Given the description of an element on the screen output the (x, y) to click on. 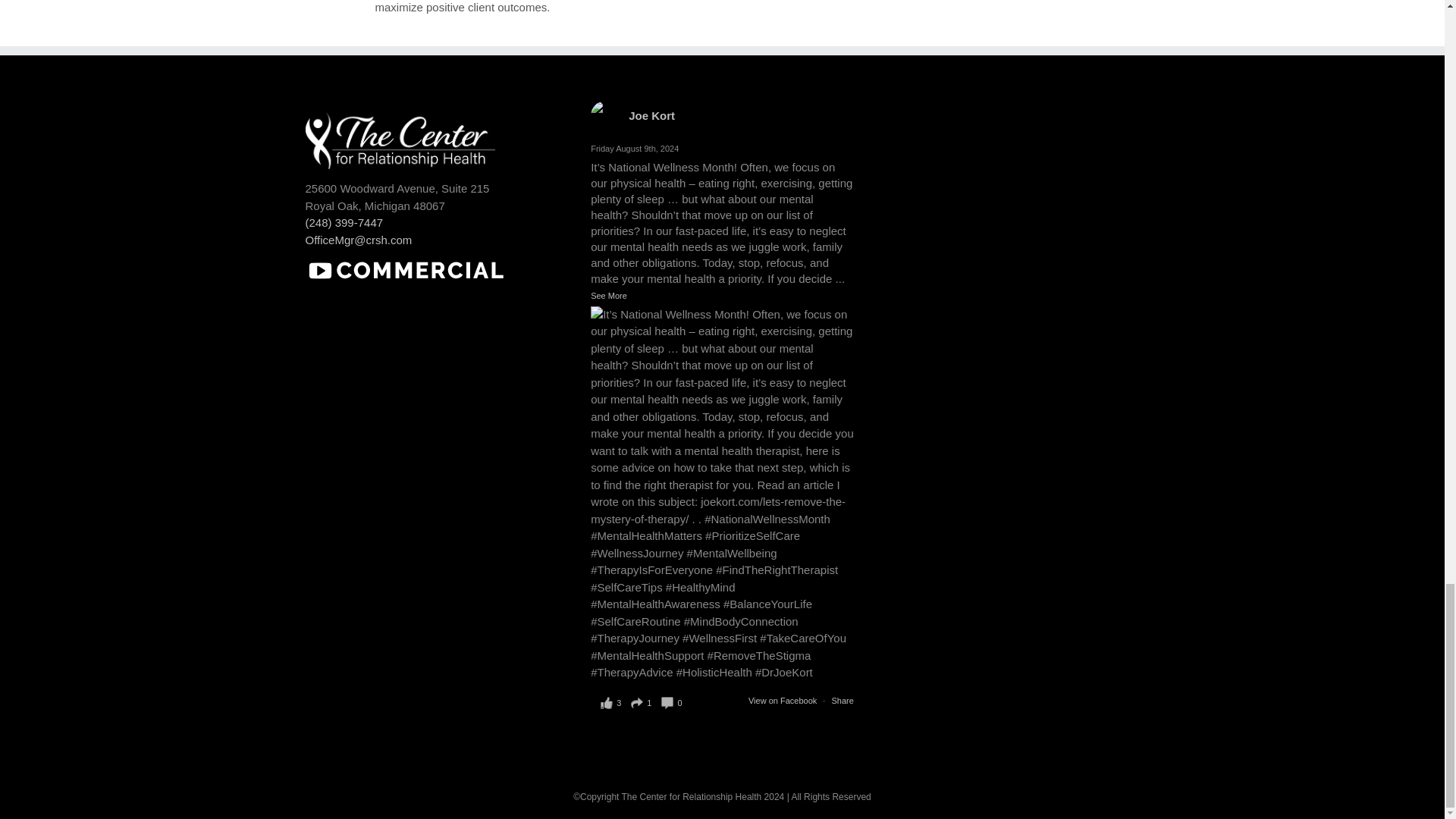
YouTube video player (418, 349)
See More (642, 702)
Joe Kort (609, 295)
View on Facebook (651, 115)
Share (783, 700)
View on Facebook (842, 700)
Share (783, 700)
